Given the description of an element on the screen output the (x, y) to click on. 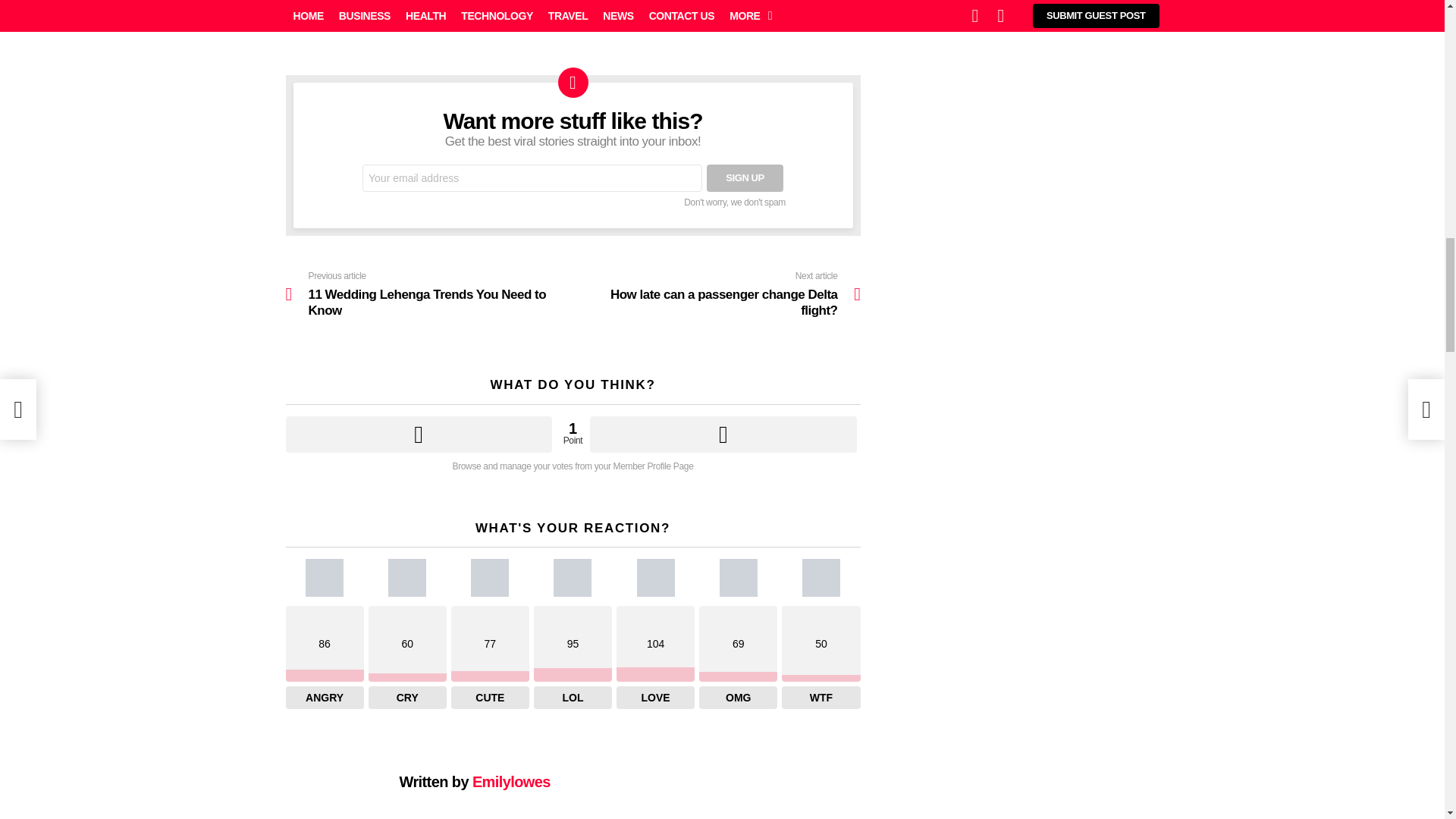
Sign up (744, 177)
